Given the description of an element on the screen output the (x, y) to click on. 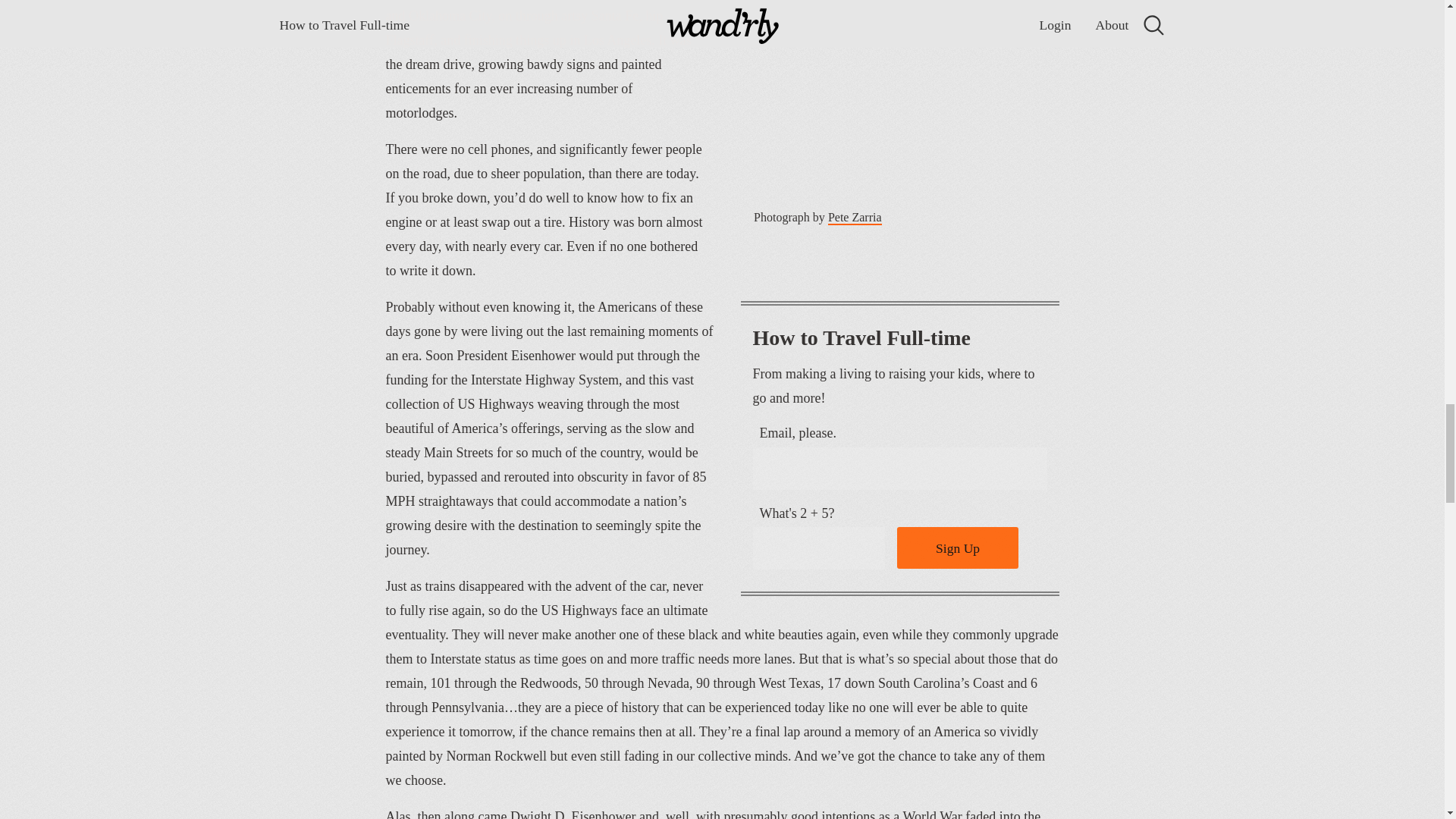
Sign Up (956, 547)
rt-66-station (898, 97)
Pete Zarria (855, 217)
Sign Up (956, 547)
